Given the description of an element on the screen output the (x, y) to click on. 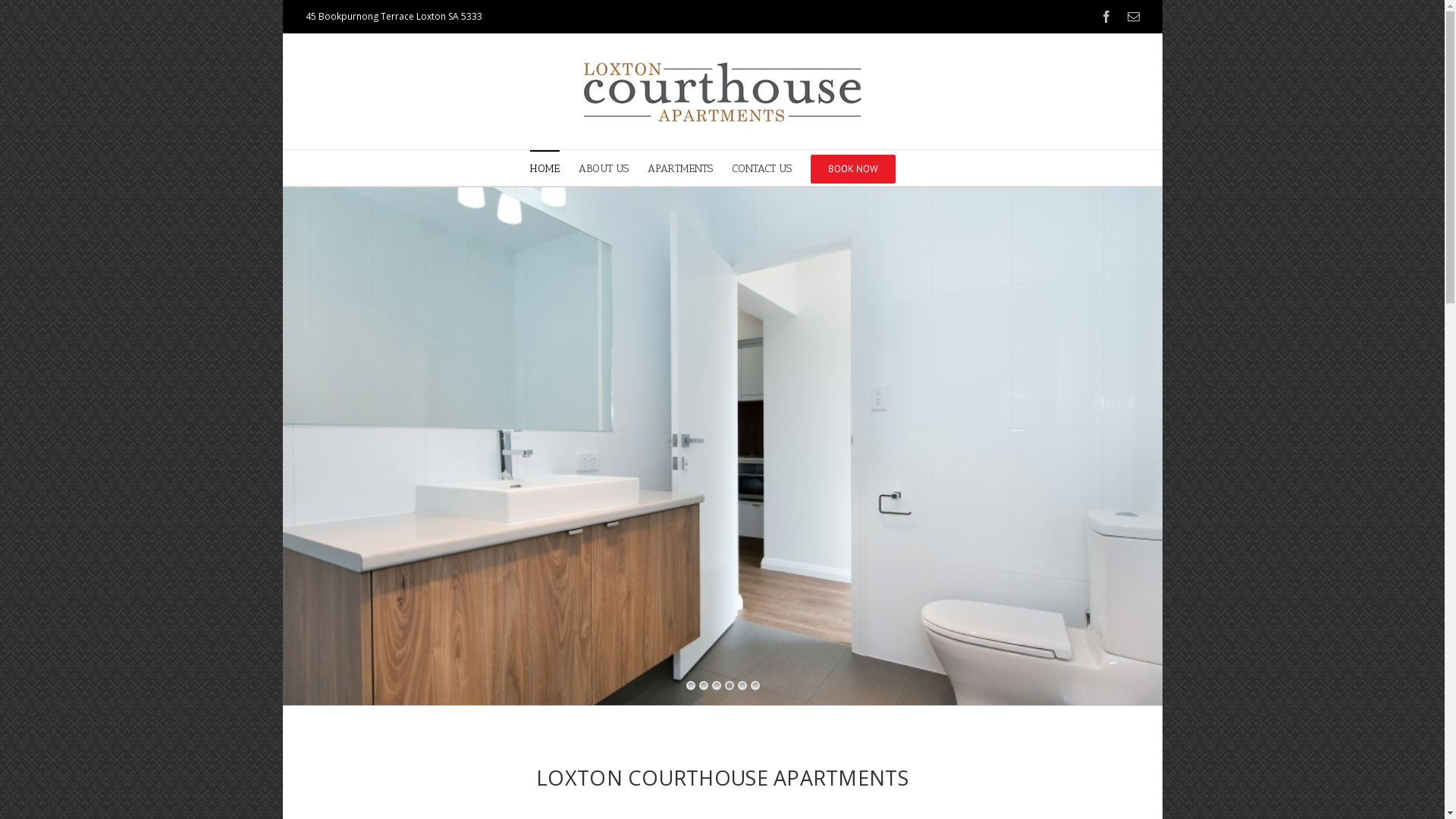
Email Element type: text (1132, 16)
CONTACT US Element type: text (761, 167)
facebook Element type: text (1105, 16)
BOOK NOW Element type: text (852, 167)
ABOUT US Element type: text (603, 167)
APARTMENTS Element type: text (679, 167)
HOME Element type: text (544, 167)
